Given the description of an element on the screen output the (x, y) to click on. 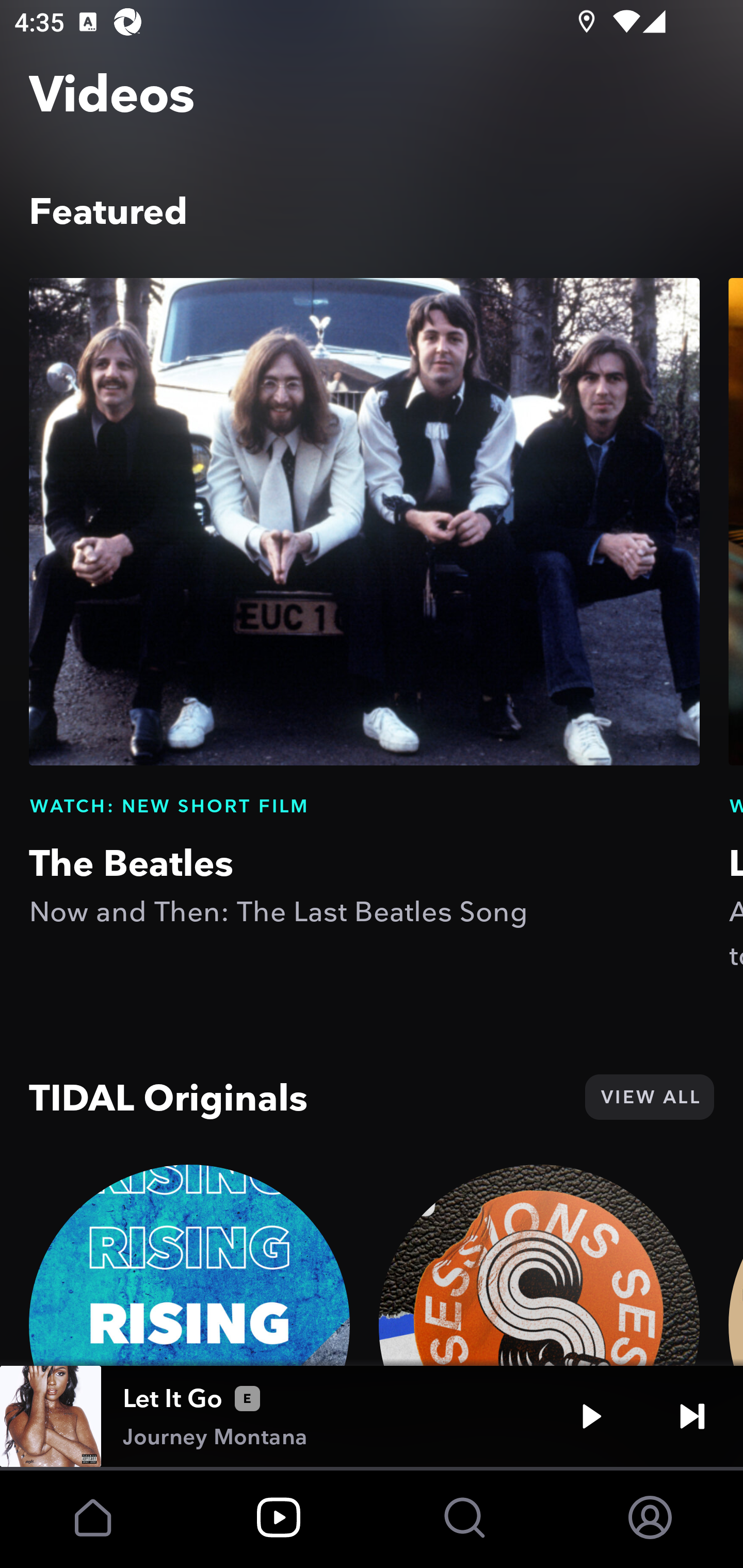
VIEW ALL (649, 1096)
Let It Go    Journey Montana Play (371, 1416)
Play (590, 1416)
